Given the description of an element on the screen output the (x, y) to click on. 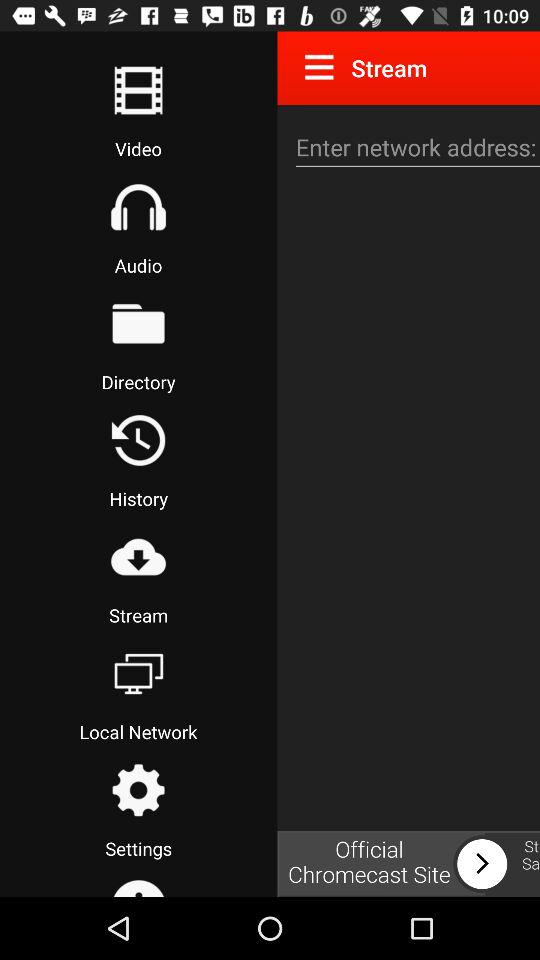
go to audio (138, 207)
